Given the description of an element on the screen output the (x, y) to click on. 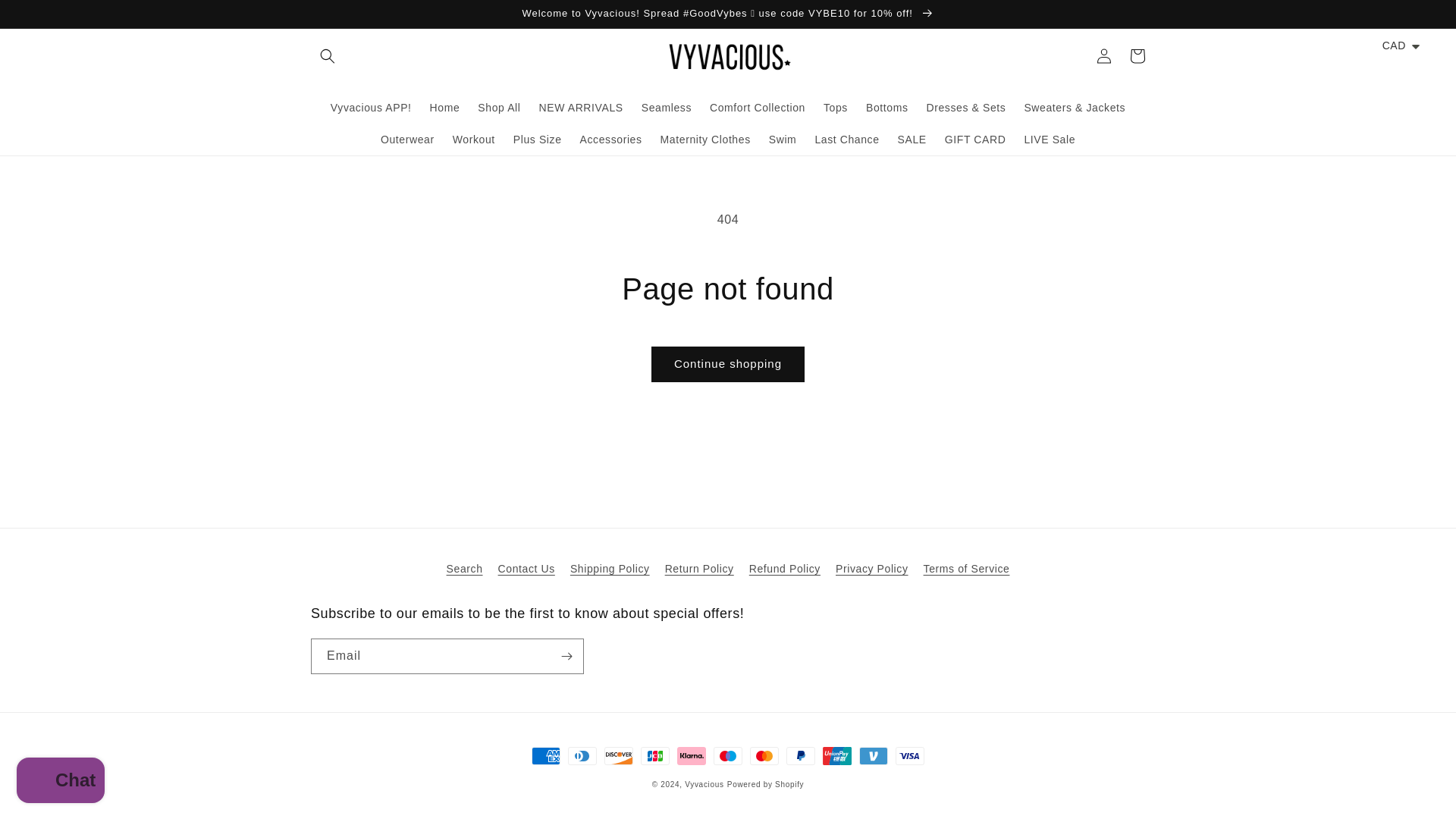
Home (444, 107)
Accessories (610, 139)
Shop All (498, 107)
Plus Size (536, 139)
Tops (835, 107)
Seamless (665, 107)
Bottoms (887, 107)
Comfort Collection (756, 107)
Workout (473, 139)
Skip to content (45, 17)
Vyvacious APP! (370, 107)
Shopify online store chat (60, 781)
NEW ARRIVALS (580, 107)
Outerwear (407, 139)
